Given the description of an element on the screen output the (x, y) to click on. 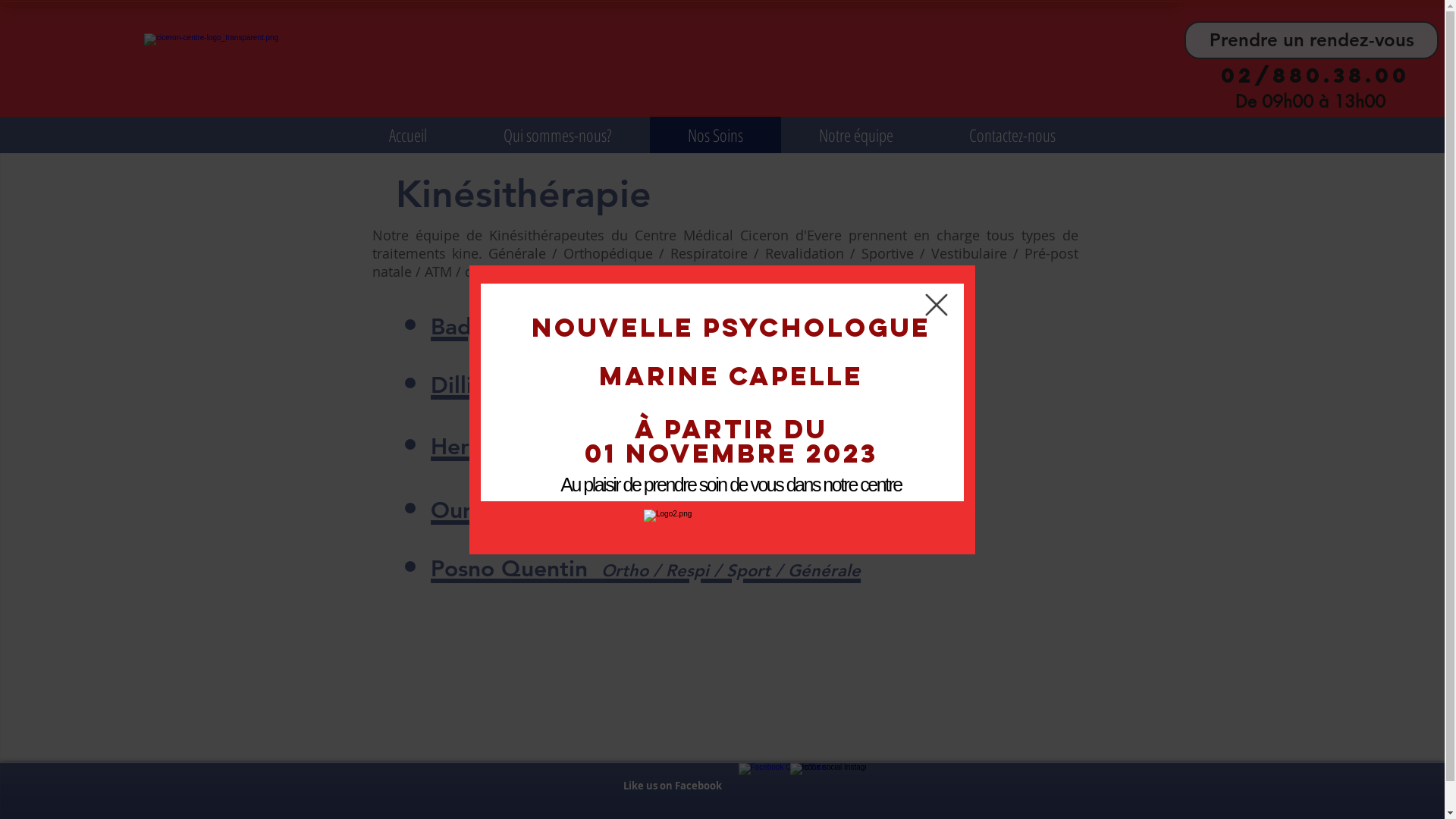
Contactez-nous Element type: text (1012, 134)
Accueil Element type: text (407, 134)
Prendre un rendez-vous Element type: text (1311, 40)
Retour au site Element type: hover (936, 303)
Nos Soins Element type: text (714, 134)
Qui sommes-nous? Element type: text (557, 134)
